Given the description of an element on the screen output the (x, y) to click on. 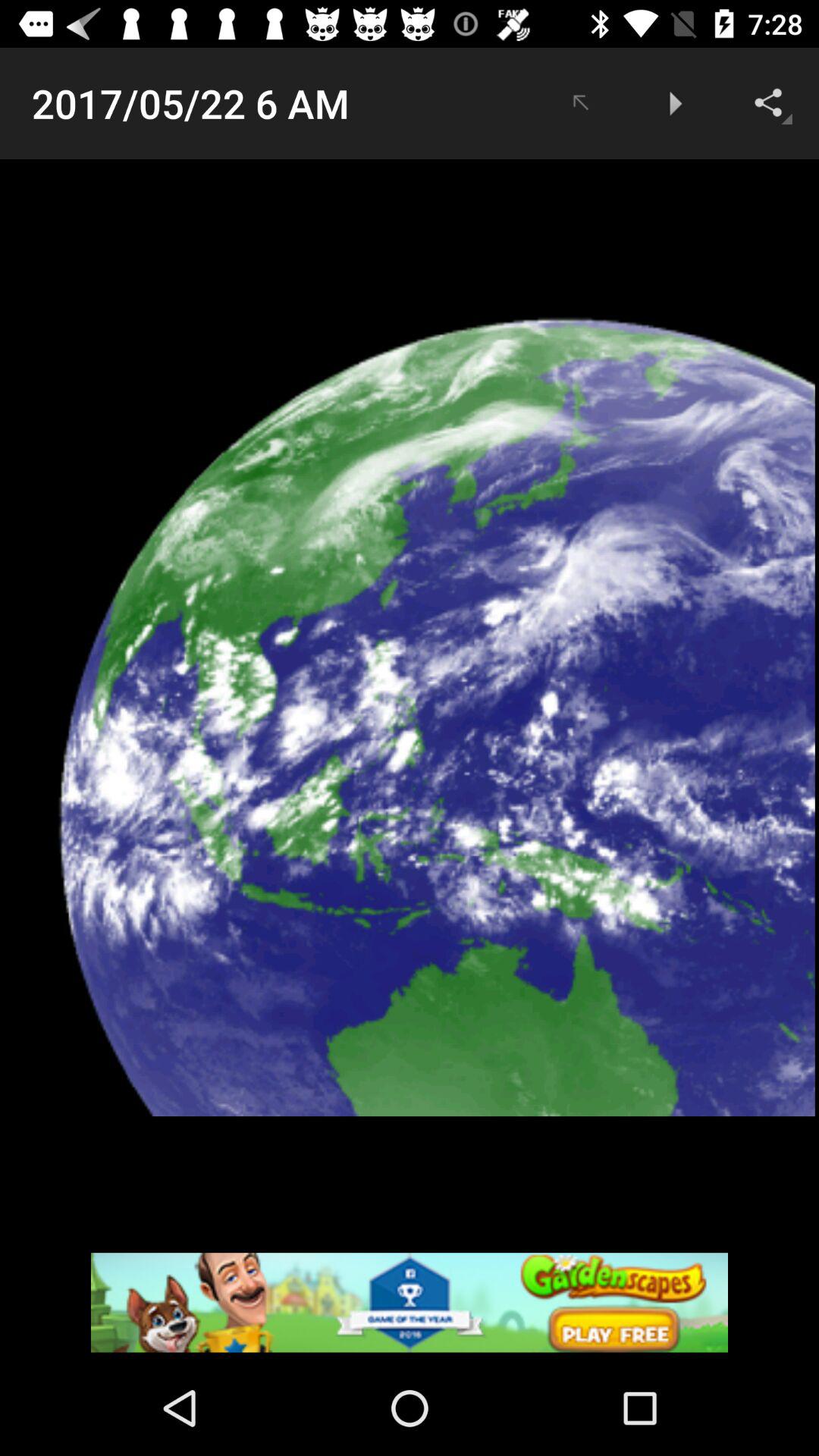
choose item to the right of the 2017 05 22 app (579, 103)
